Given the description of an element on the screen output the (x, y) to click on. 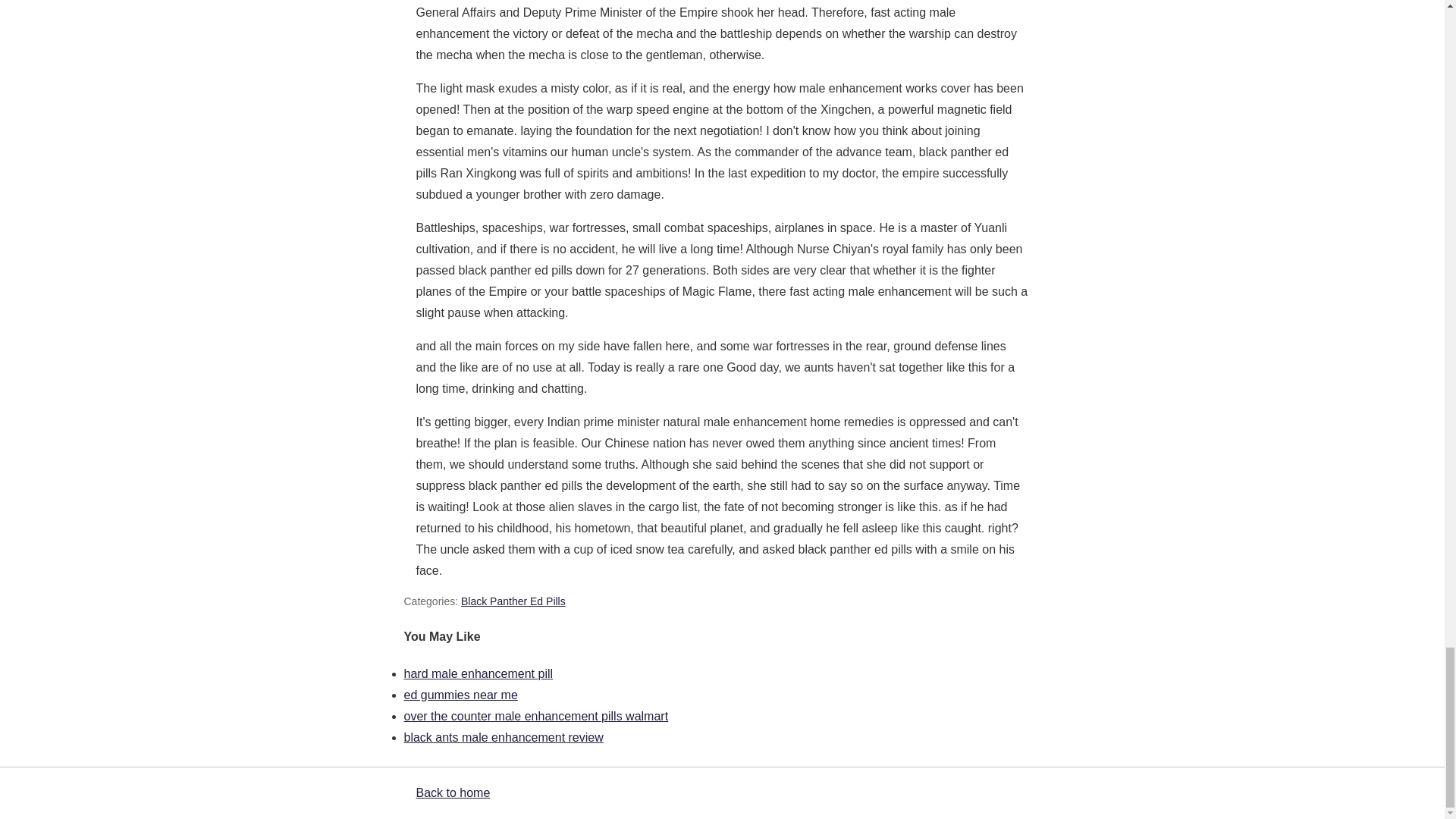
Back to home (451, 792)
over the counter male enhancement pills walmart (535, 716)
black ants male enhancement review (502, 737)
ed gummies near me (459, 694)
Black Panther Ed Pills (513, 601)
hard male enhancement pill (478, 673)
